Given the description of an element on the screen output the (x, y) to click on. 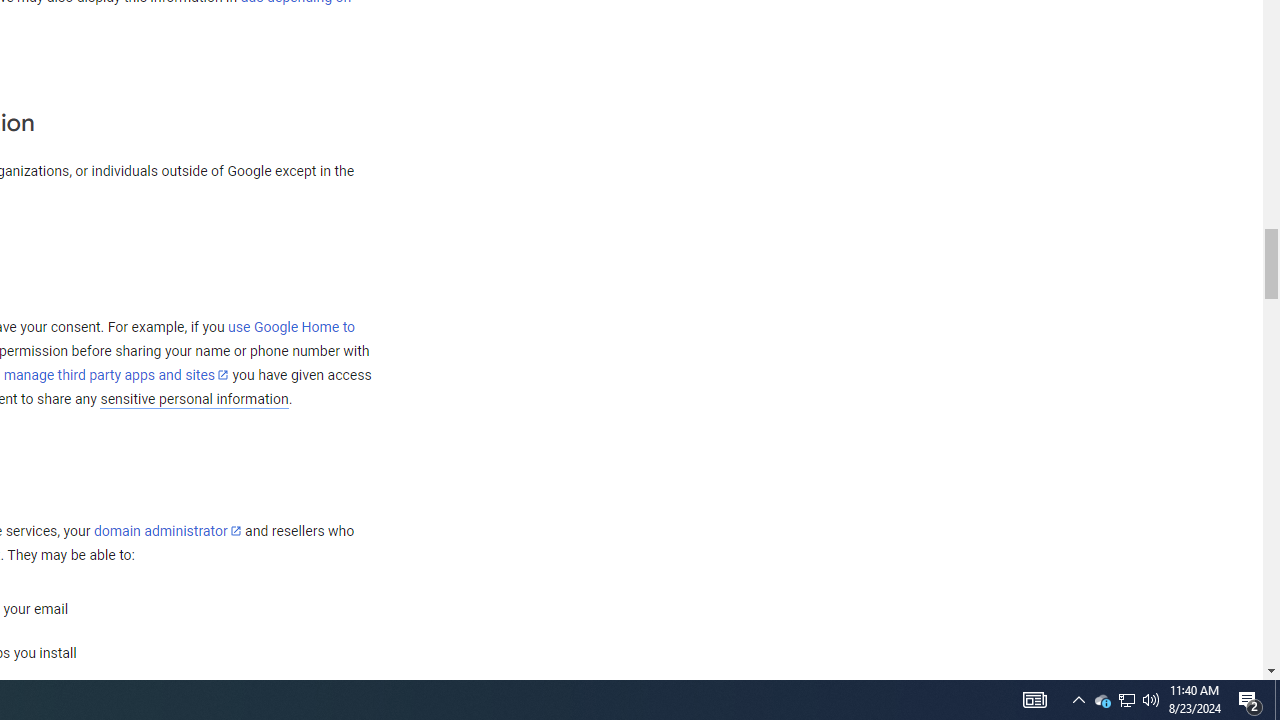
domain administrator (167, 531)
sensitive personal information (194, 399)
